Given the description of an element on the screen output the (x, y) to click on. 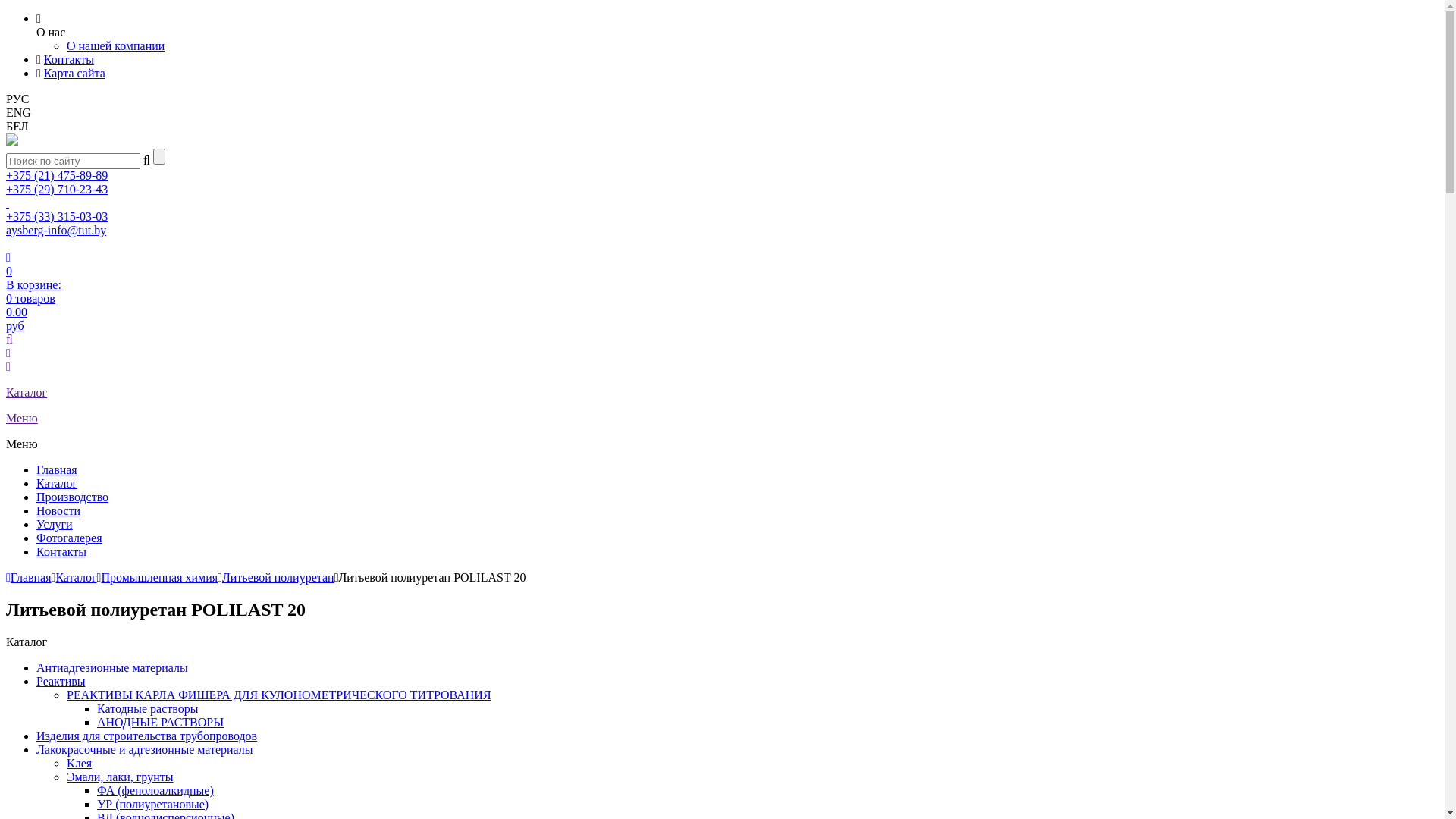
+375 (21) 475-89-89 Element type: text (56, 175)
ENG Element type: text (18, 112)
+375 (29) 710-23-43 Element type: text (56, 188)
+375 (33) 315-03-03 Element type: text (56, 216)
aysberg-info@tut.by Element type: text (56, 229)
